Given the description of an element on the screen output the (x, y) to click on. 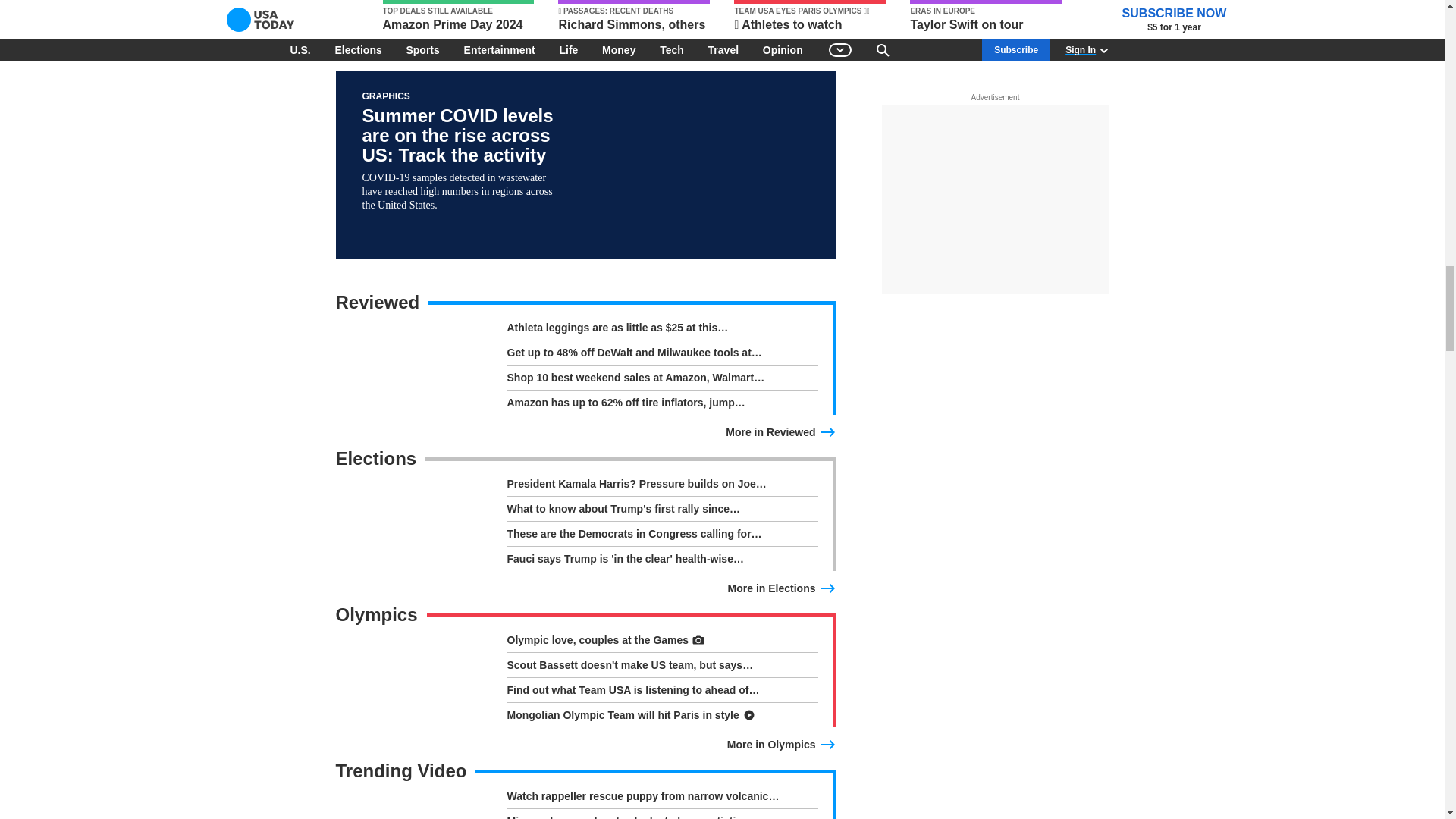
Shop 10 best weekend sales at Amazon, Walmart, Athleta (661, 380)
